Given the description of an element on the screen output the (x, y) to click on. 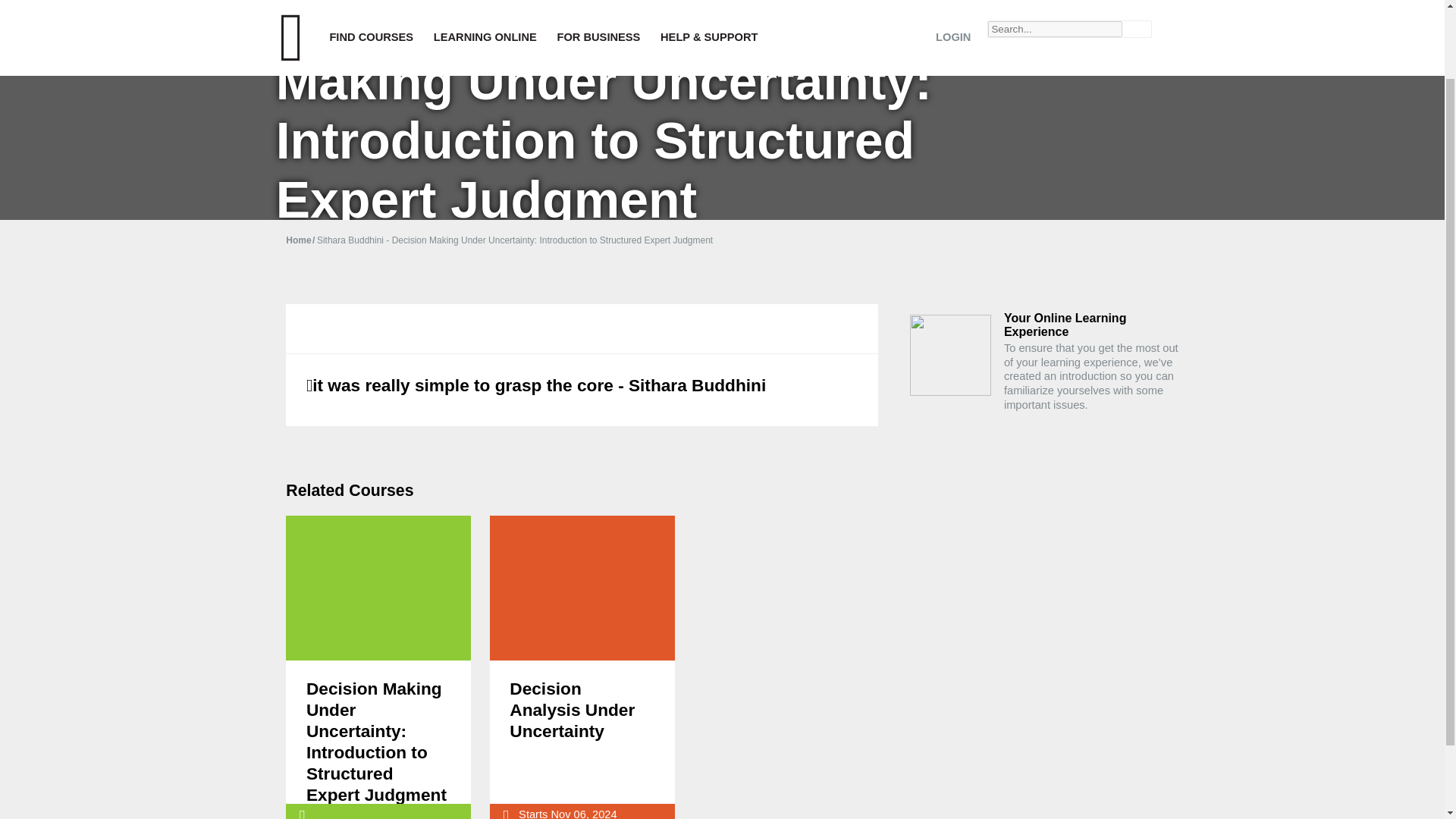
Home (301, 240)
Home (301, 240)
